Given the description of an element on the screen output the (x, y) to click on. 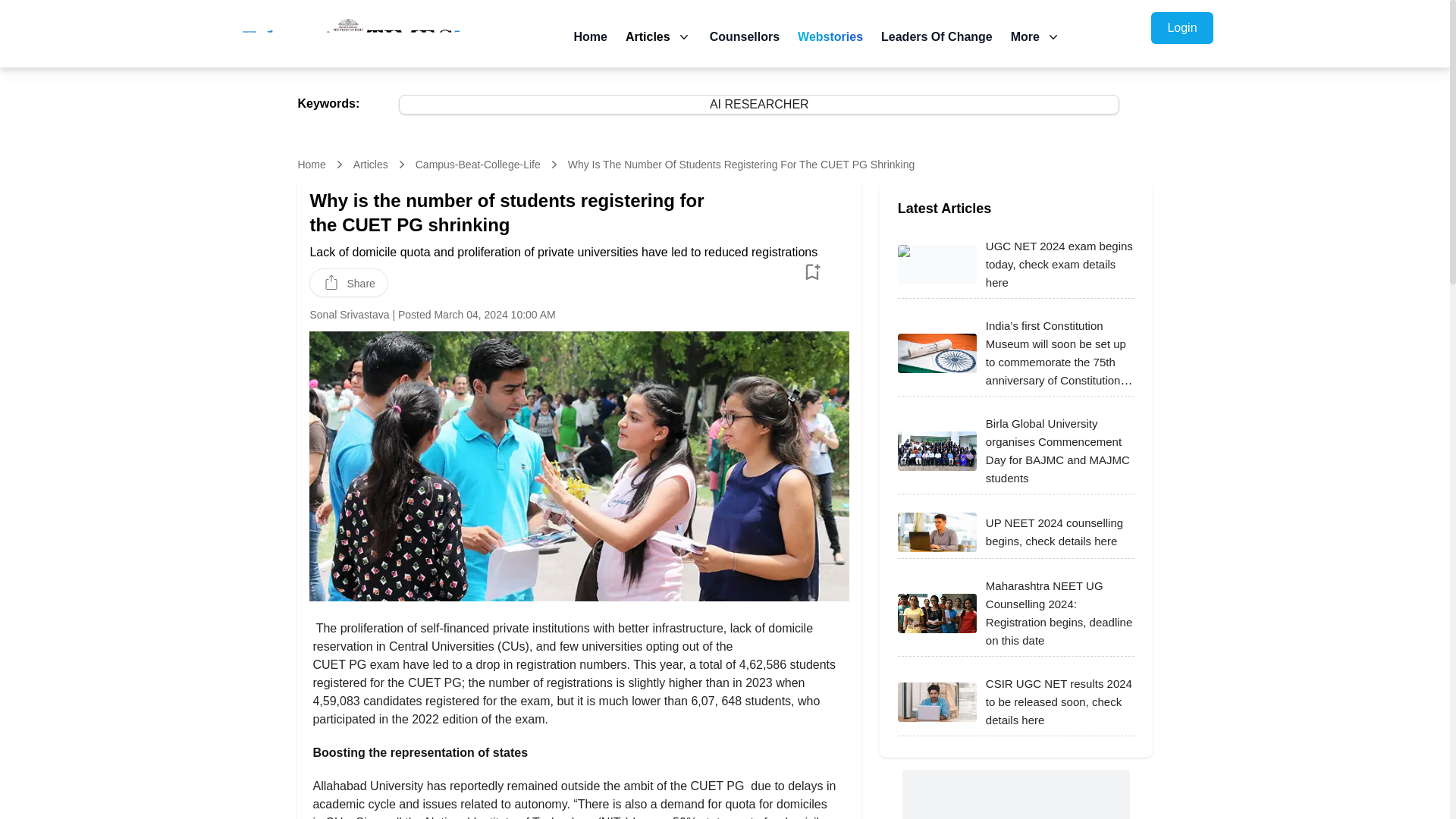
Articles (370, 164)
Sonal Srivastava (348, 314)
Webstories (830, 36)
EducationTimes.com (349, 37)
Your Company (349, 37)
Latest Articles (310, 164)
AI RESEARCHER (1016, 208)
